Given the description of an element on the screen output the (x, y) to click on. 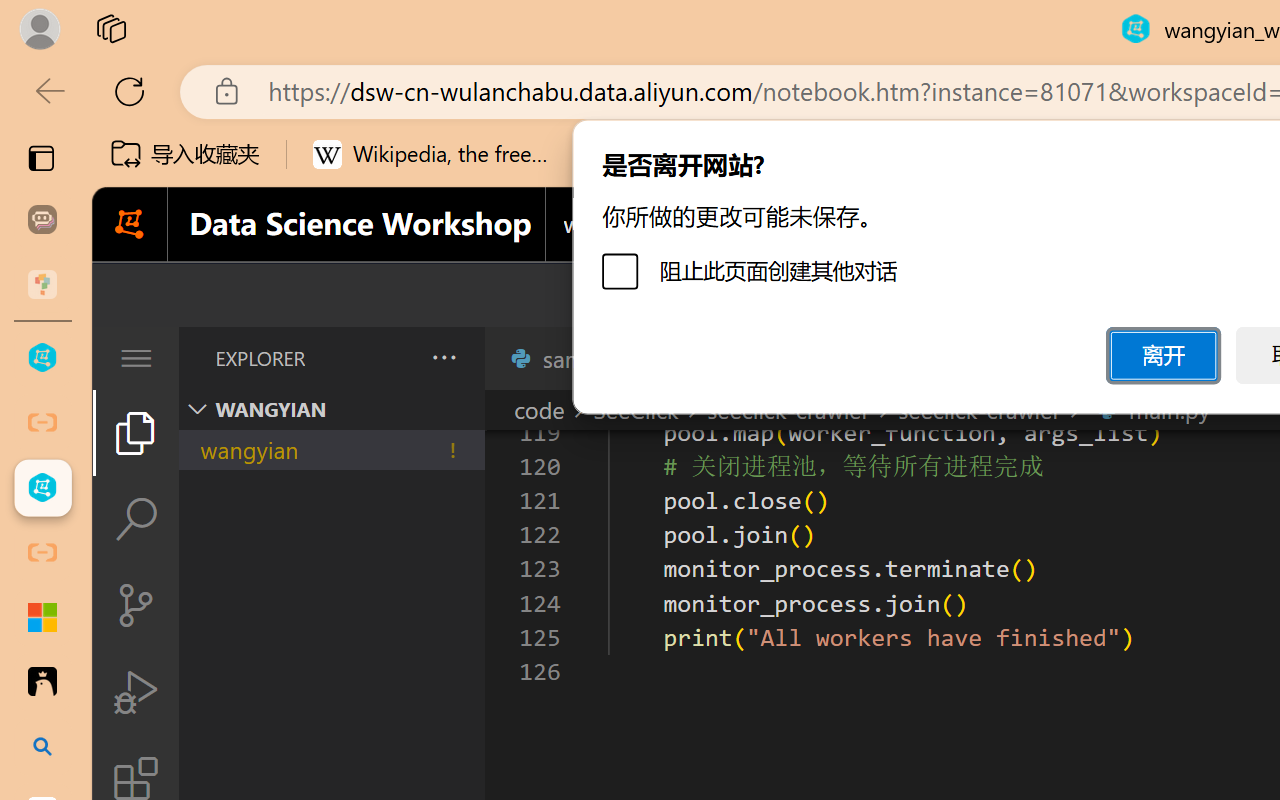
Source Control (Ctrl+Shift+G) (135, 604)
wangyian_webcrawler - DSW (42, 487)
